Given the description of an element on the screen output the (x, y) to click on. 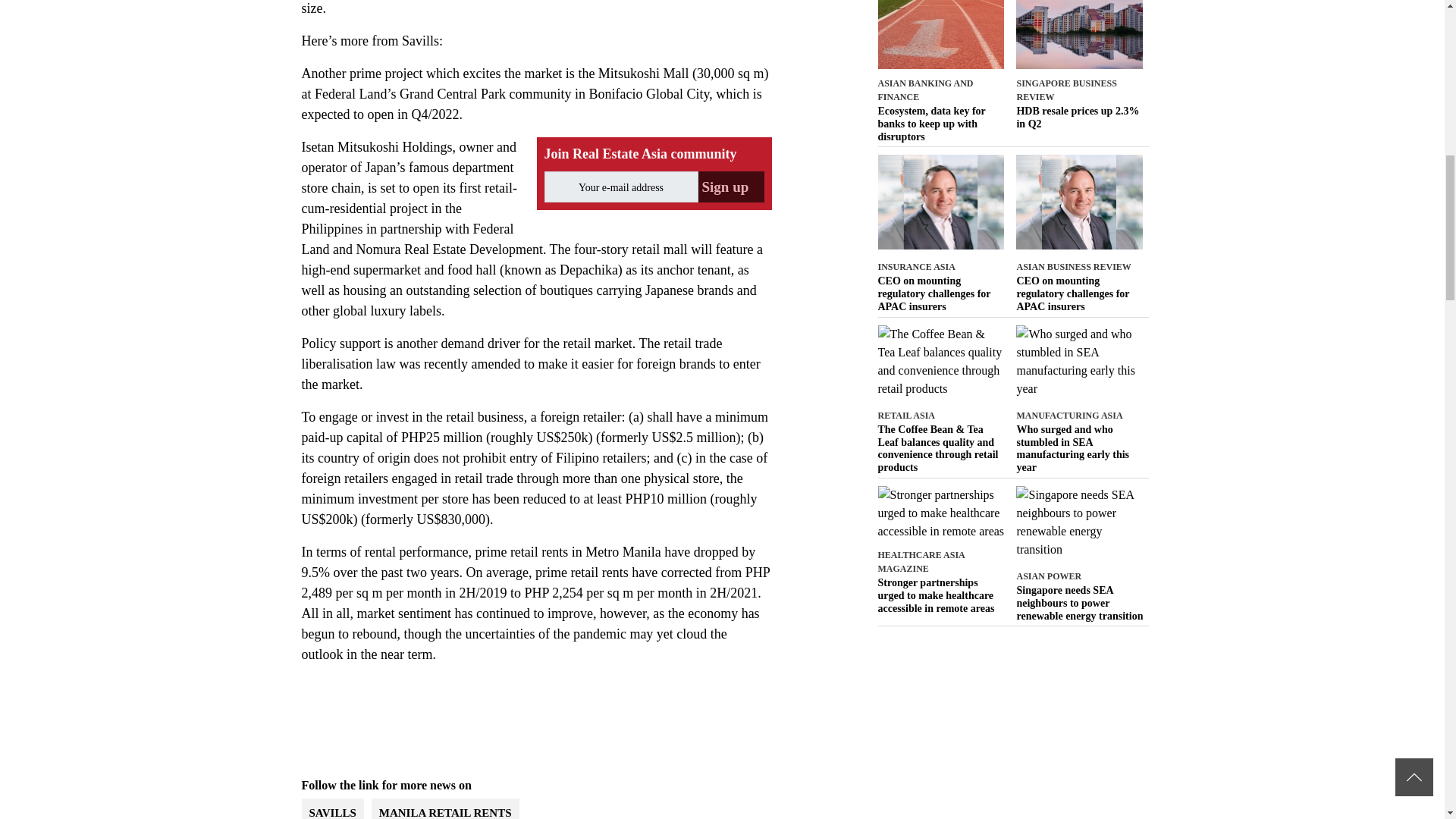
CEO on mounting regulatory challenges for APAC insurers (940, 293)
CEO on mounting regulatory challenges for APAC insurers (1079, 293)
Sign up (729, 186)
Ecosystem, data key for banks to keep up with disruptors (940, 124)
Please enter a valid email (621, 186)
